Given the description of an element on the screen output the (x, y) to click on. 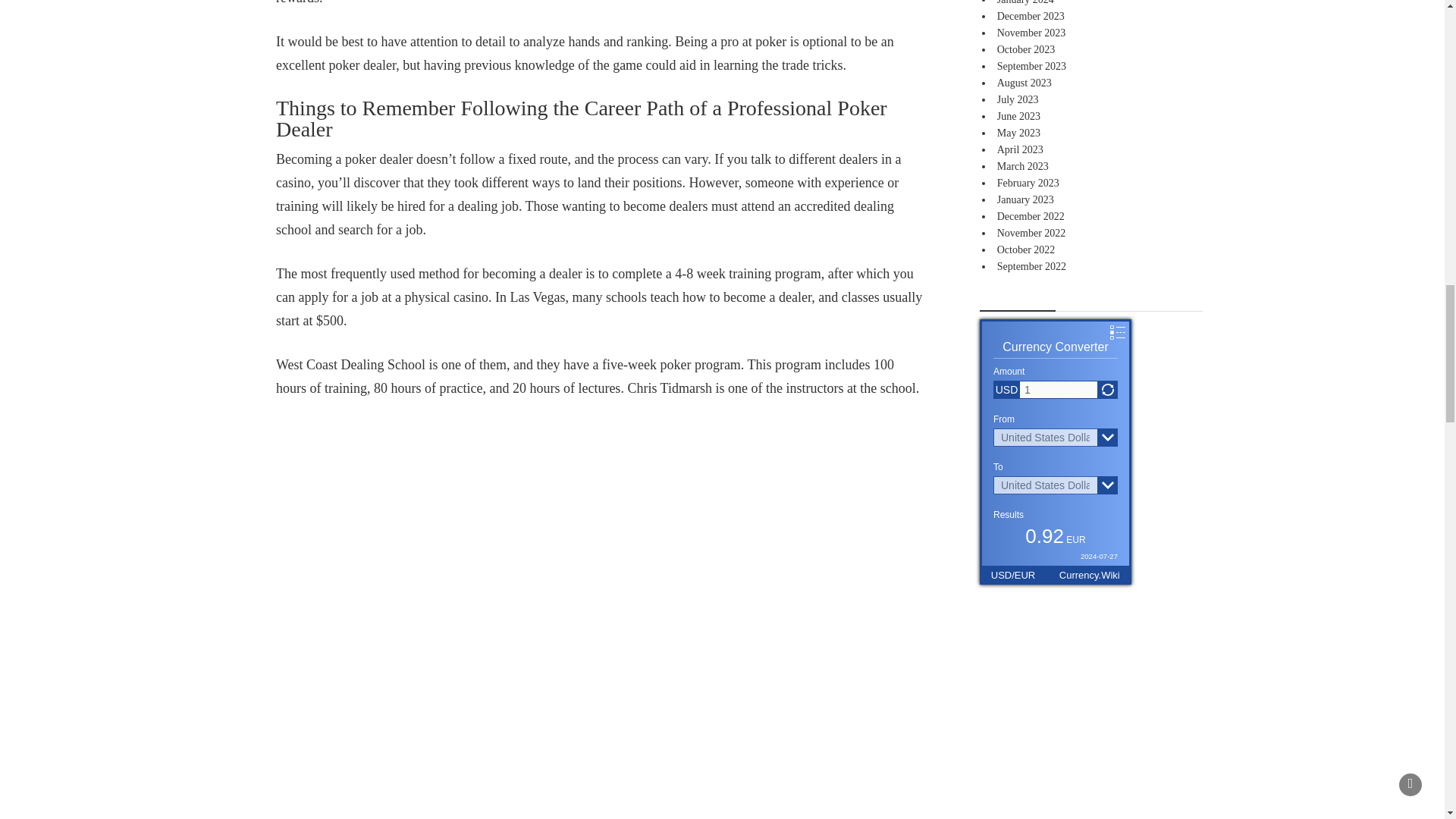
October 2023 (1026, 49)
November 2023 (1031, 32)
December 2023 (1030, 16)
January 2024 (1025, 2)
